Given the description of an element on the screen output the (x, y) to click on. 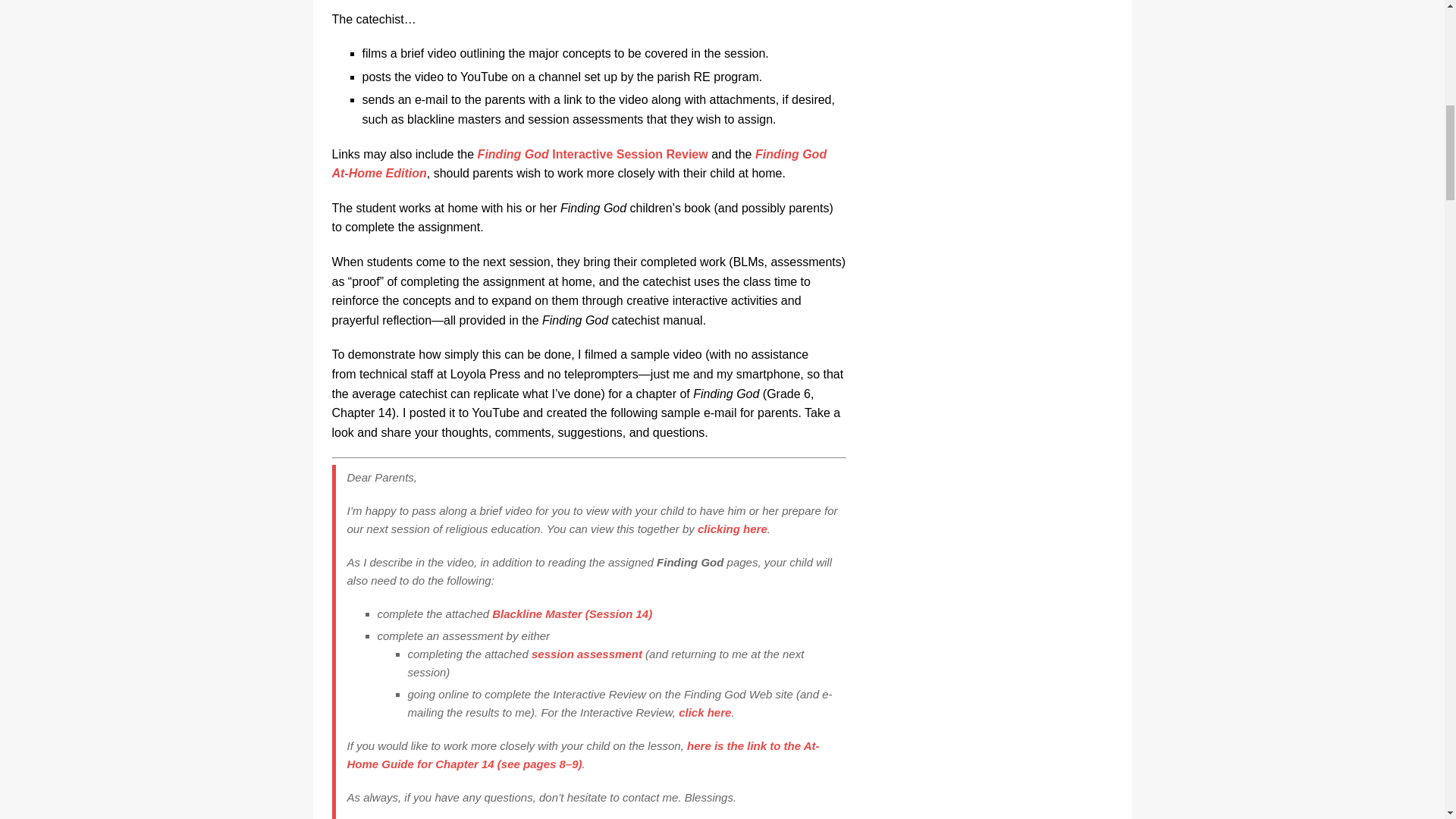
FG interactive Session REview (592, 154)
Finding God At-Home Edition (579, 164)
BLM (572, 613)
Session Assessment (586, 653)
